Given the description of an element on the screen output the (x, y) to click on. 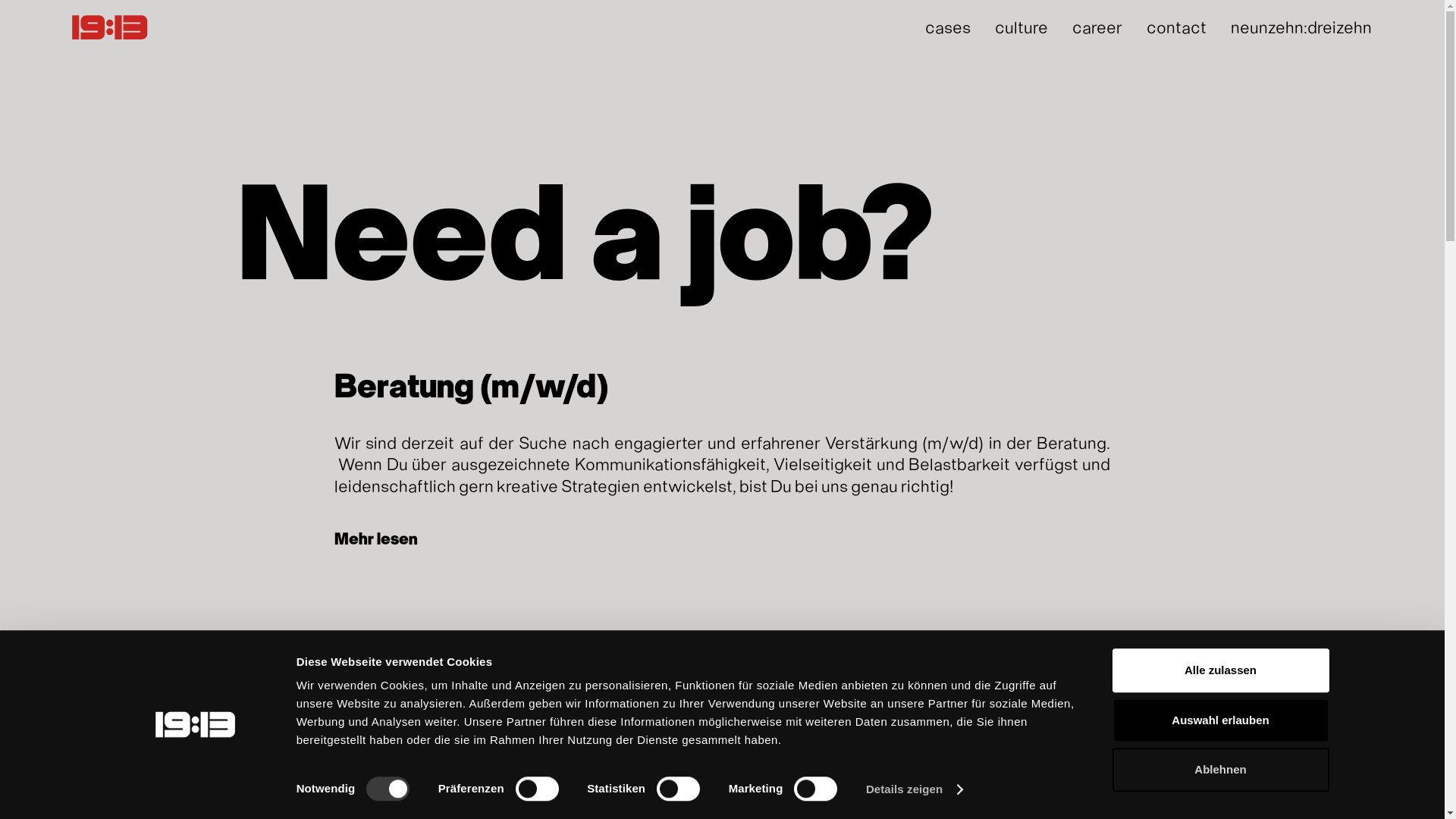
Details zeigen Element type: text (914, 789)
Mehr lesen Element type: text (375, 538)
contact Element type: text (1176, 27)
career Element type: text (1097, 27)
Auswahl erlauben Element type: text (1219, 720)
Ablehnen Element type: text (1219, 769)
neunzehn:dreizehn Element type: text (1300, 27)
culture Element type: text (1021, 27)
Alle zulassen Element type: text (1219, 670)
cases Element type: text (947, 27)
Mehr lesen Element type: text (375, 786)
